Given the description of an element on the screen output the (x, y) to click on. 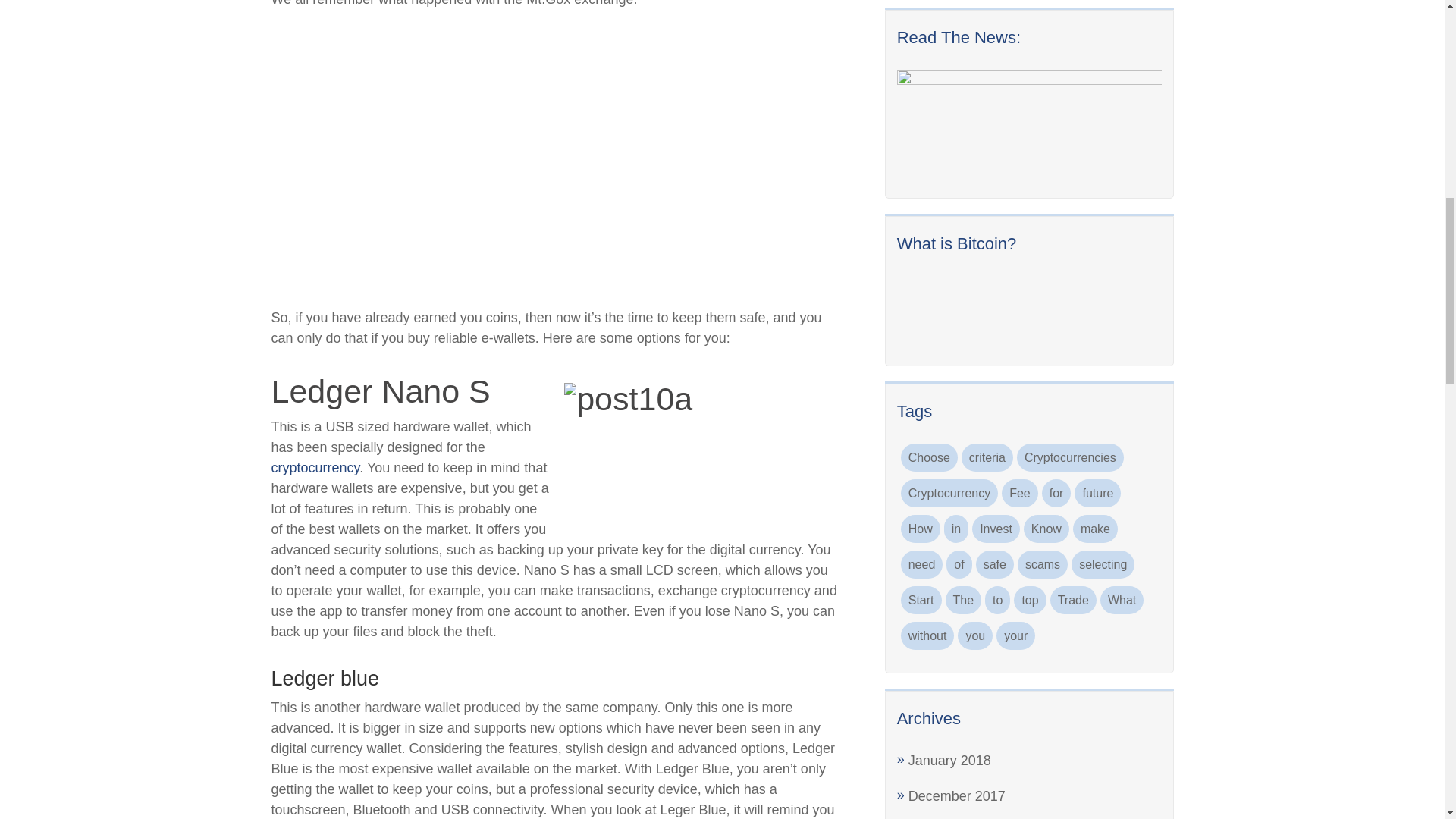
Start (921, 600)
Invest (996, 528)
Cryptocurrency (949, 492)
scams (1042, 564)
to (997, 600)
for (1056, 492)
How (920, 528)
make (1095, 528)
need (922, 564)
Fee (1019, 492)
